Given the description of an element on the screen output the (x, y) to click on. 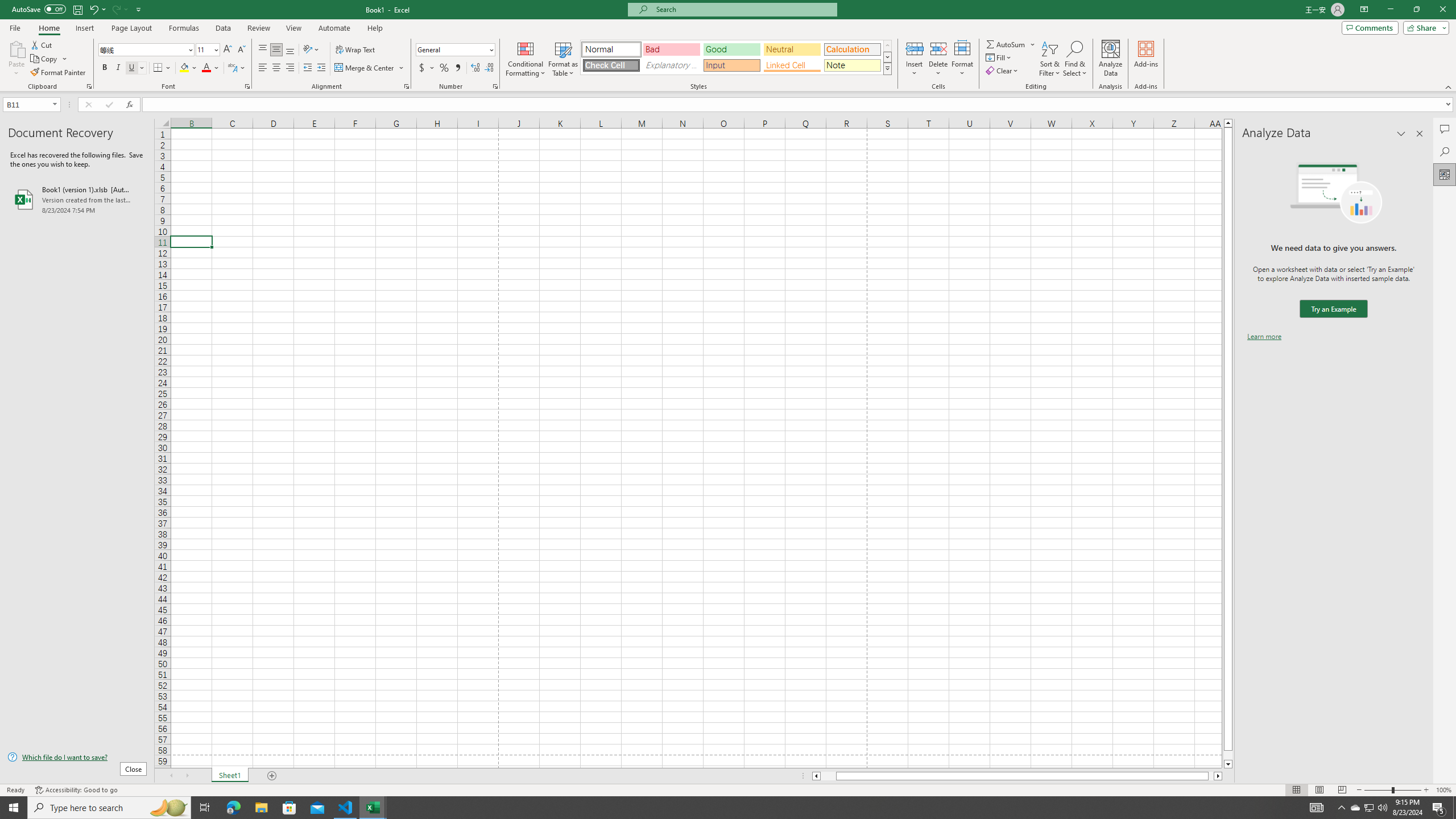
Note (852, 65)
Find & Select (1075, 58)
Format as Table (563, 58)
Clear (1003, 69)
Sum (1006, 44)
Format (962, 58)
